Given the description of an element on the screen output the (x, y) to click on. 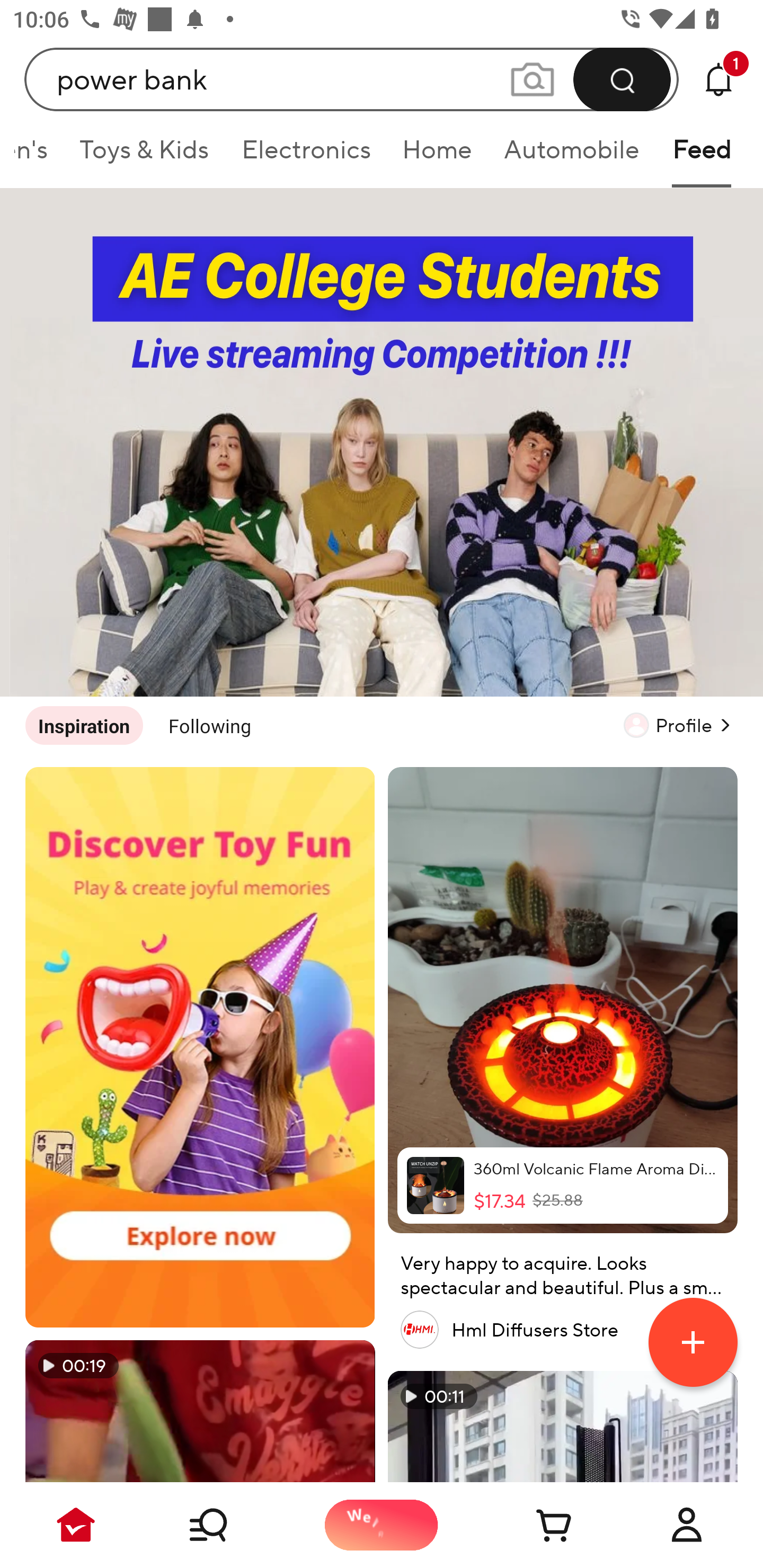
power bank (351, 79)
Toys & Kids (144, 155)
Electronics (305, 155)
Home (437, 155)
Automobile (572, 155)
Inspiration (84, 724)
Following (209, 724)
Profile  (680, 724)
Shop (228, 1524)
Cart (533, 1524)
Account (686, 1524)
